Given the description of an element on the screen output the (x, y) to click on. 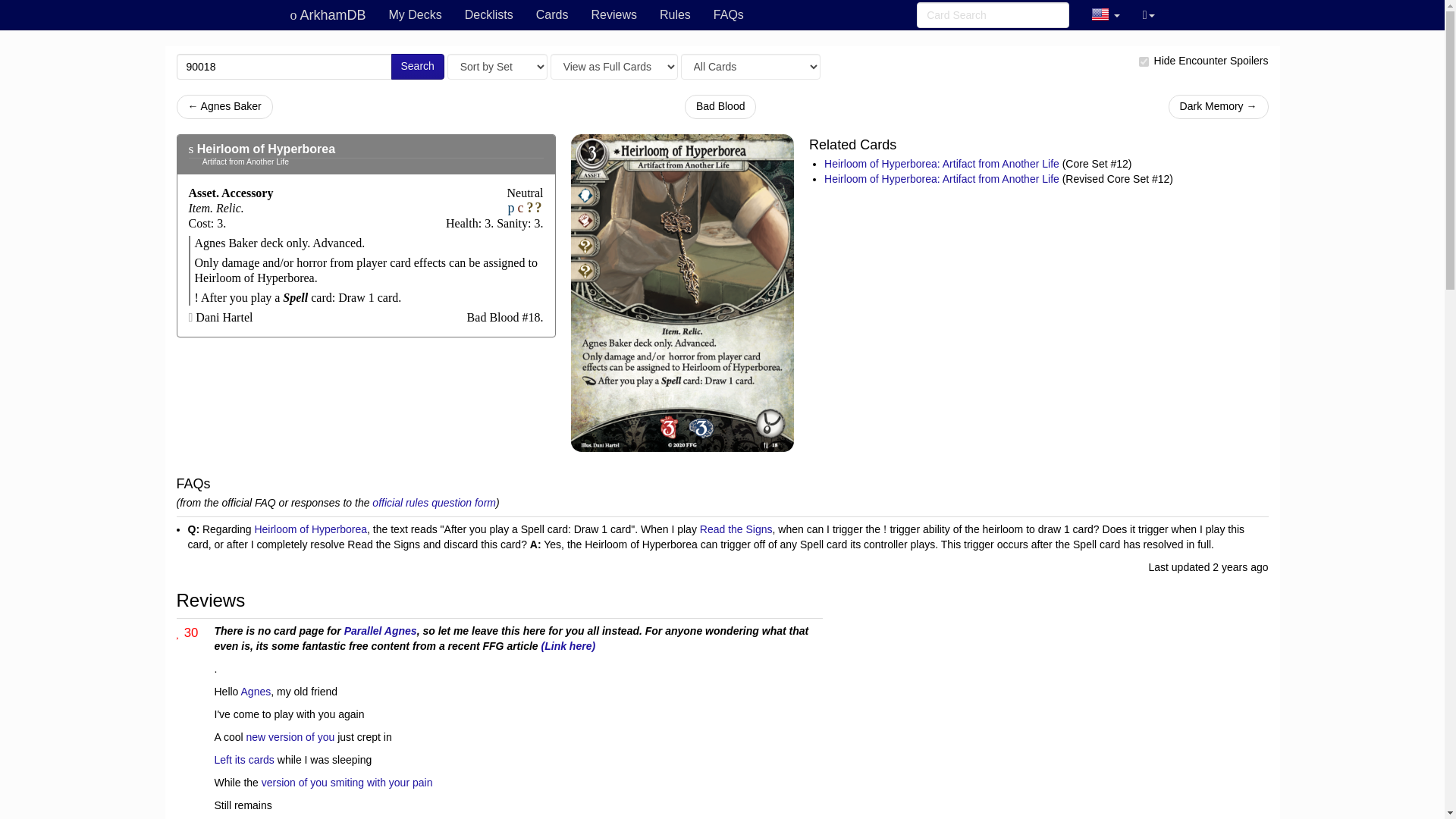
Bad Blood (720, 106)
Rules (674, 15)
Read the Signs (736, 529)
Heirloom of Hyperborea (265, 148)
new version of you (290, 736)
Left its cards (243, 759)
My Decks (414, 15)
Parallel Agnes (379, 630)
official rules question form (434, 502)
Cards (551, 15)
